Given the description of an element on the screen output the (x, y) to click on. 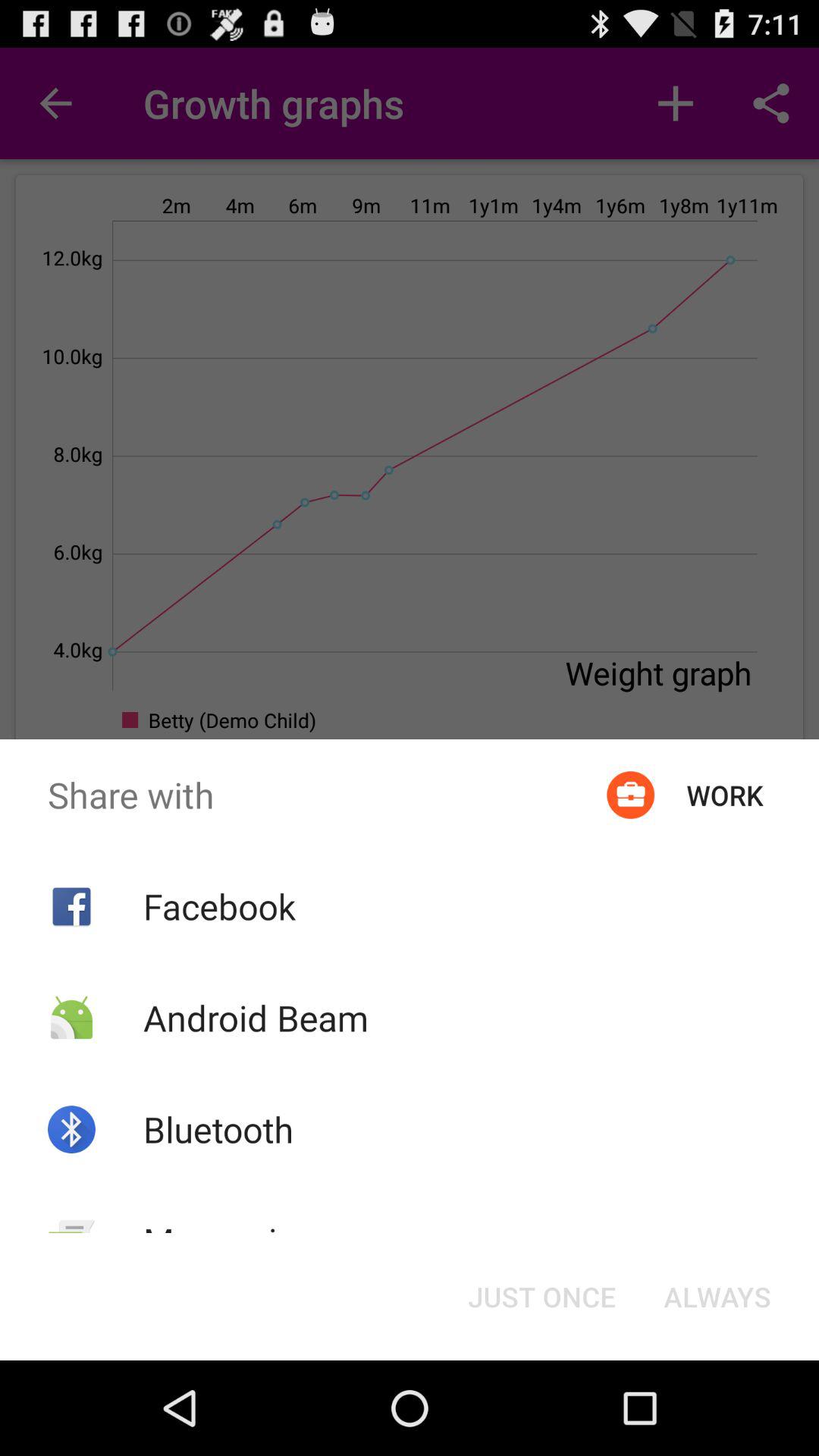
click item below the share with item (541, 1296)
